Given the description of an element on the screen output the (x, y) to click on. 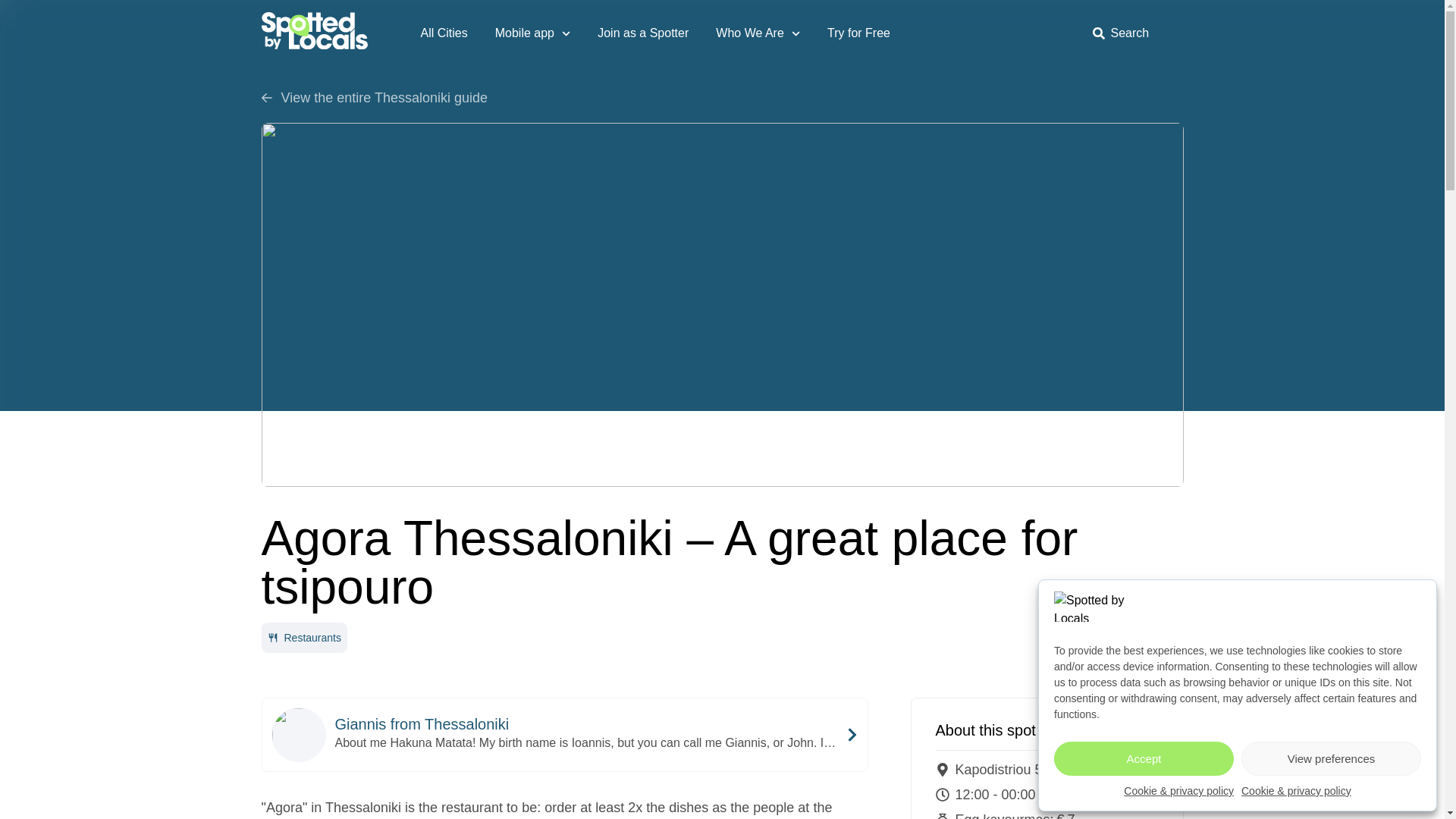
View preferences (1331, 758)
Accept (1143, 758)
Join as a Spotter (642, 33)
Try for Free (858, 33)
All Cities (443, 33)
Who We Are (758, 33)
Mobile app (532, 33)
